Given the description of an element on the screen output the (x, y) to click on. 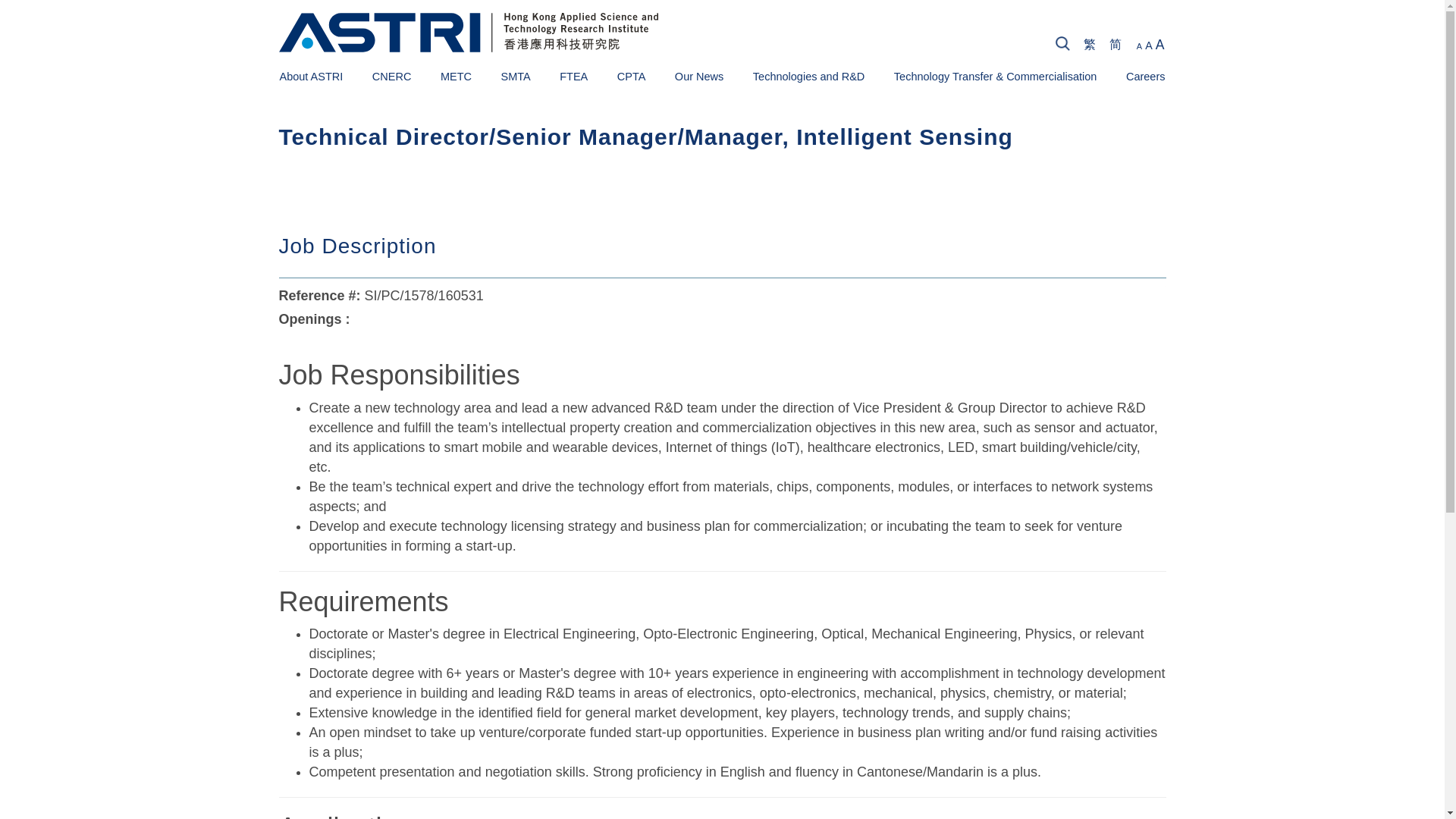
Our News (699, 76)
CPTA (631, 76)
About ASTRI (310, 76)
CNERC (392, 76)
SMTA (514, 76)
A (1138, 45)
METC (456, 76)
Search (1348, 45)
FTEA (573, 76)
